Given the description of an element on the screen output the (x, y) to click on. 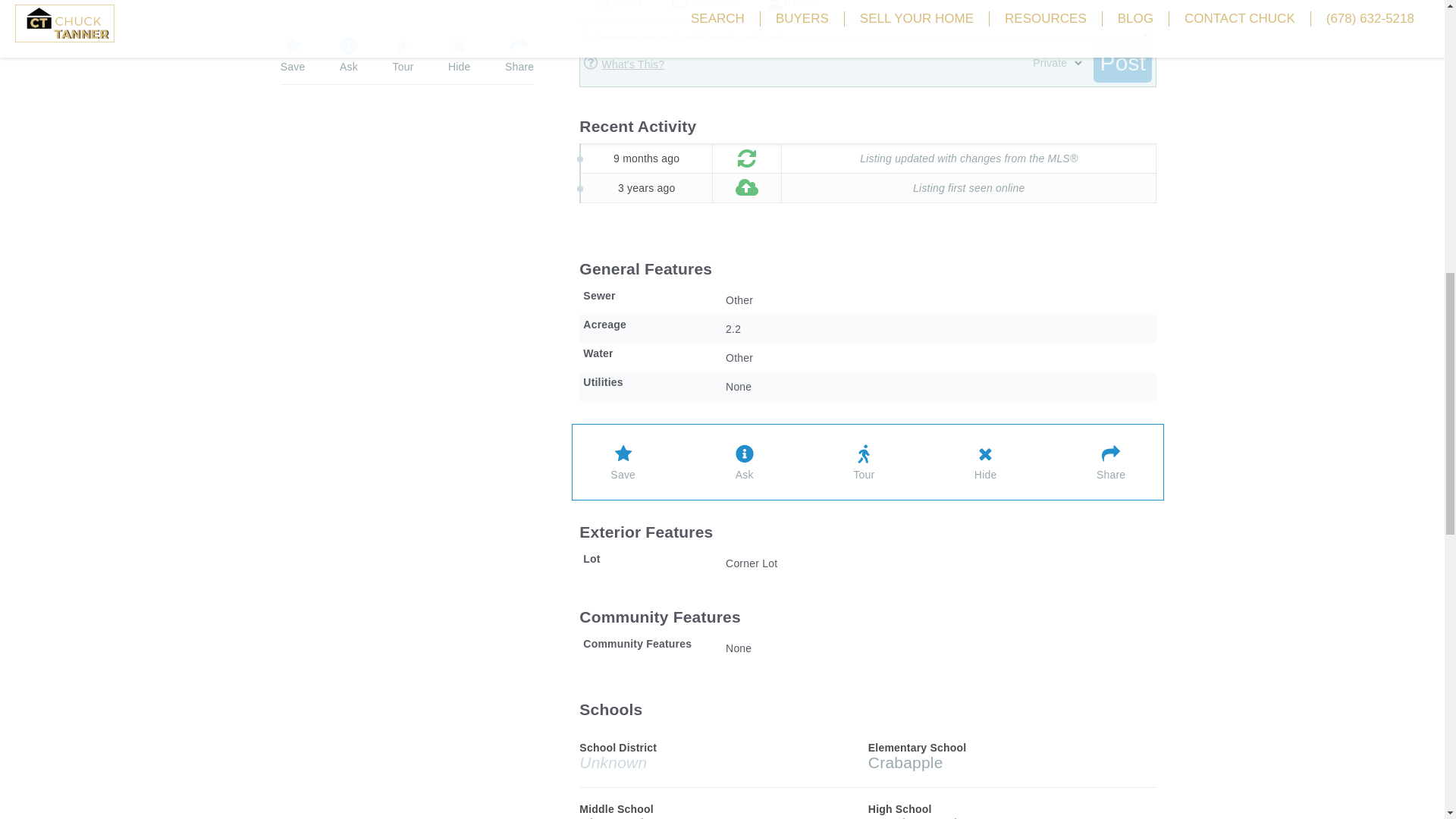
Quickview: Next Photos (406, 6)
Post (1122, 62)
